Given the description of an element on the screen output the (x, y) to click on. 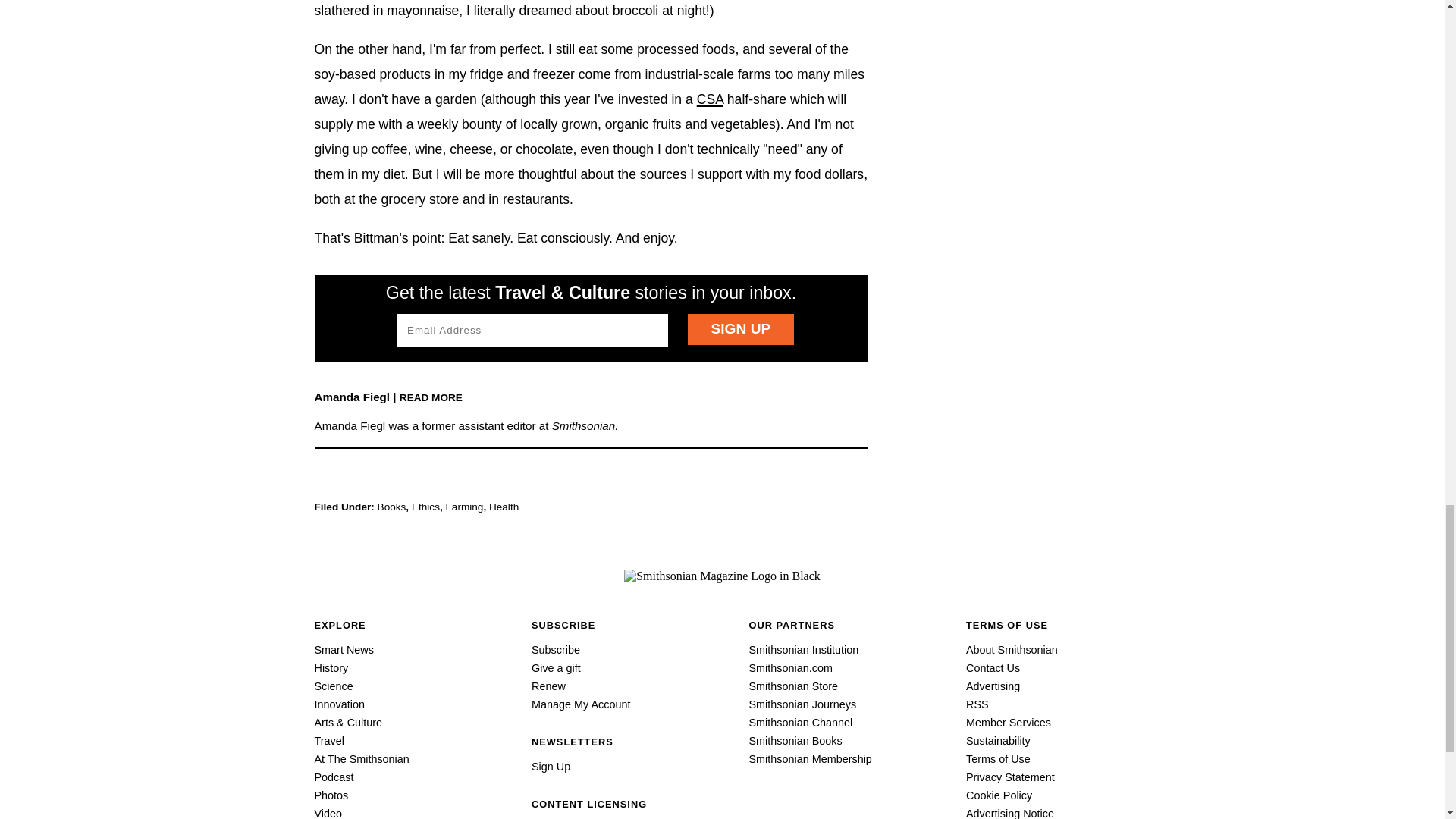
Sign Up (740, 328)
Local Harvest (710, 99)
Read more from this author (430, 396)
